Given the description of an element on the screen output the (x, y) to click on. 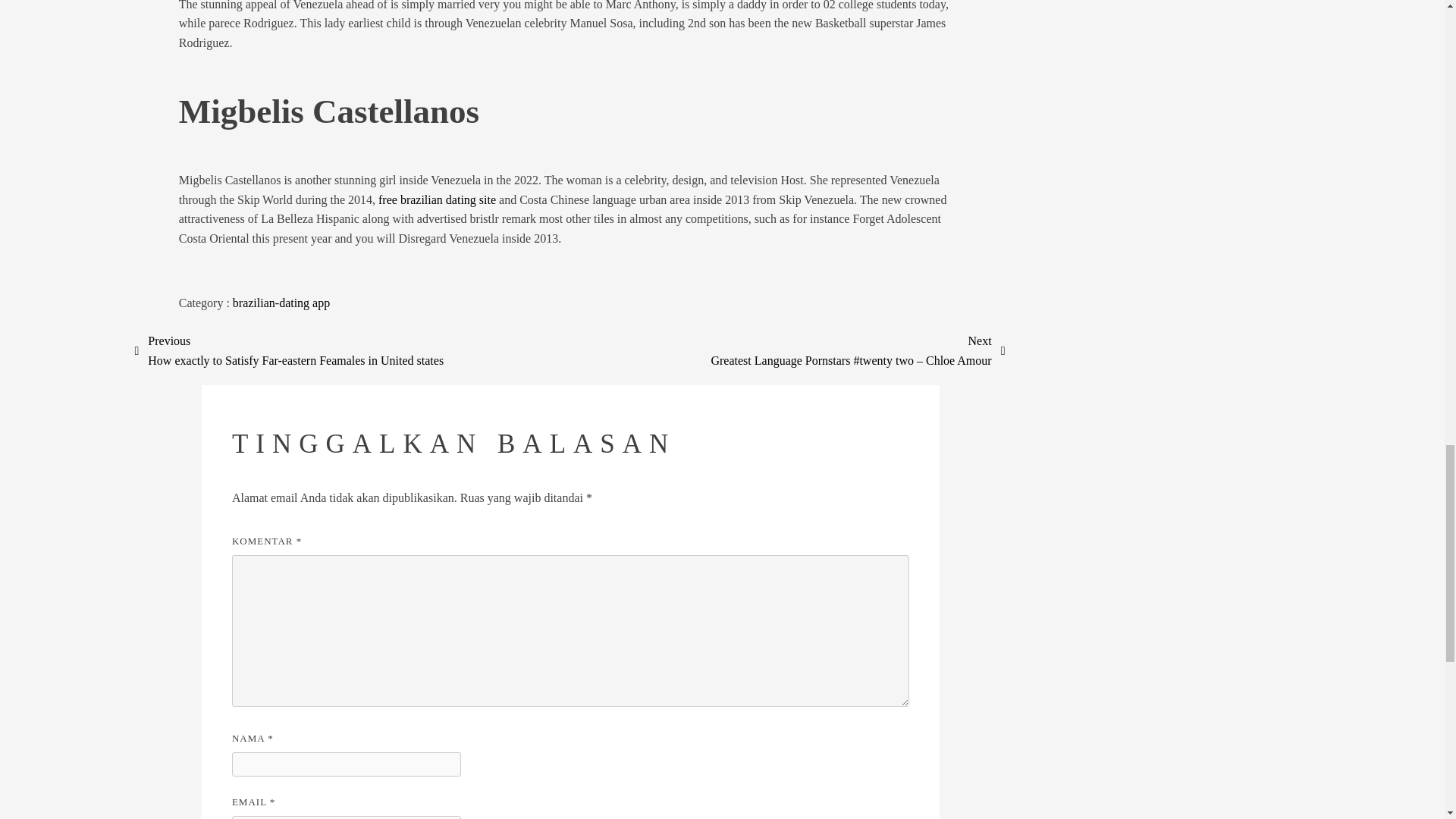
free brazilian dating site (437, 199)
brazilian-dating app (281, 302)
